Given the description of an element on the screen output the (x, y) to click on. 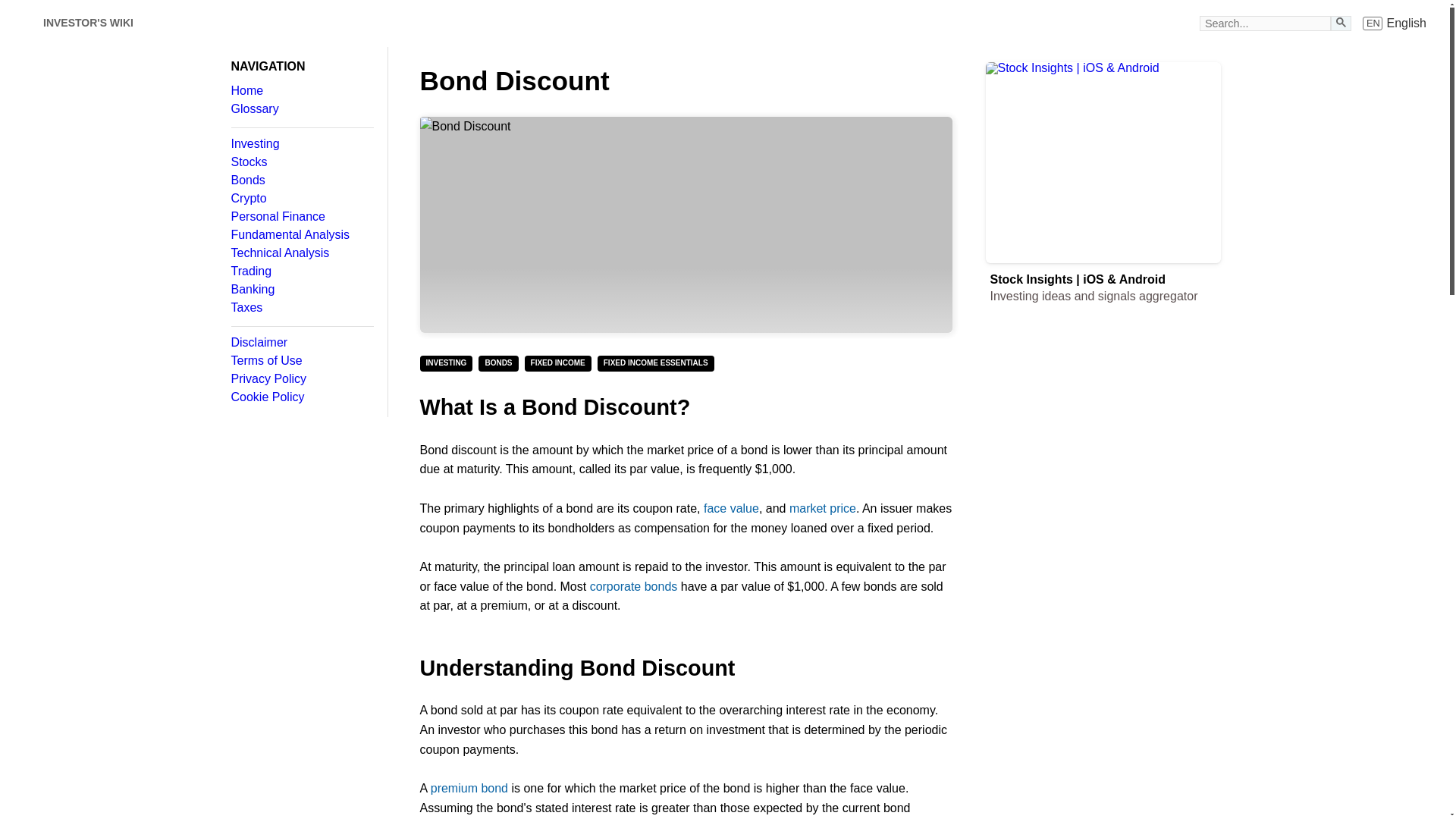
Fundamental Analysis (301, 234)
Terms of Use (301, 360)
Taxes (301, 307)
Trading (301, 271)
Investor's wiki (23, 23)
Disclaimer (301, 342)
Glossary (301, 109)
Investing (301, 143)
Crypto (301, 198)
Technical Analysis (301, 253)
Stocks (1394, 23)
Bond Discount (301, 162)
INVESTOR'S WIKI (686, 224)
Bonds (88, 23)
